Given the description of an element on the screen output the (x, y) to click on. 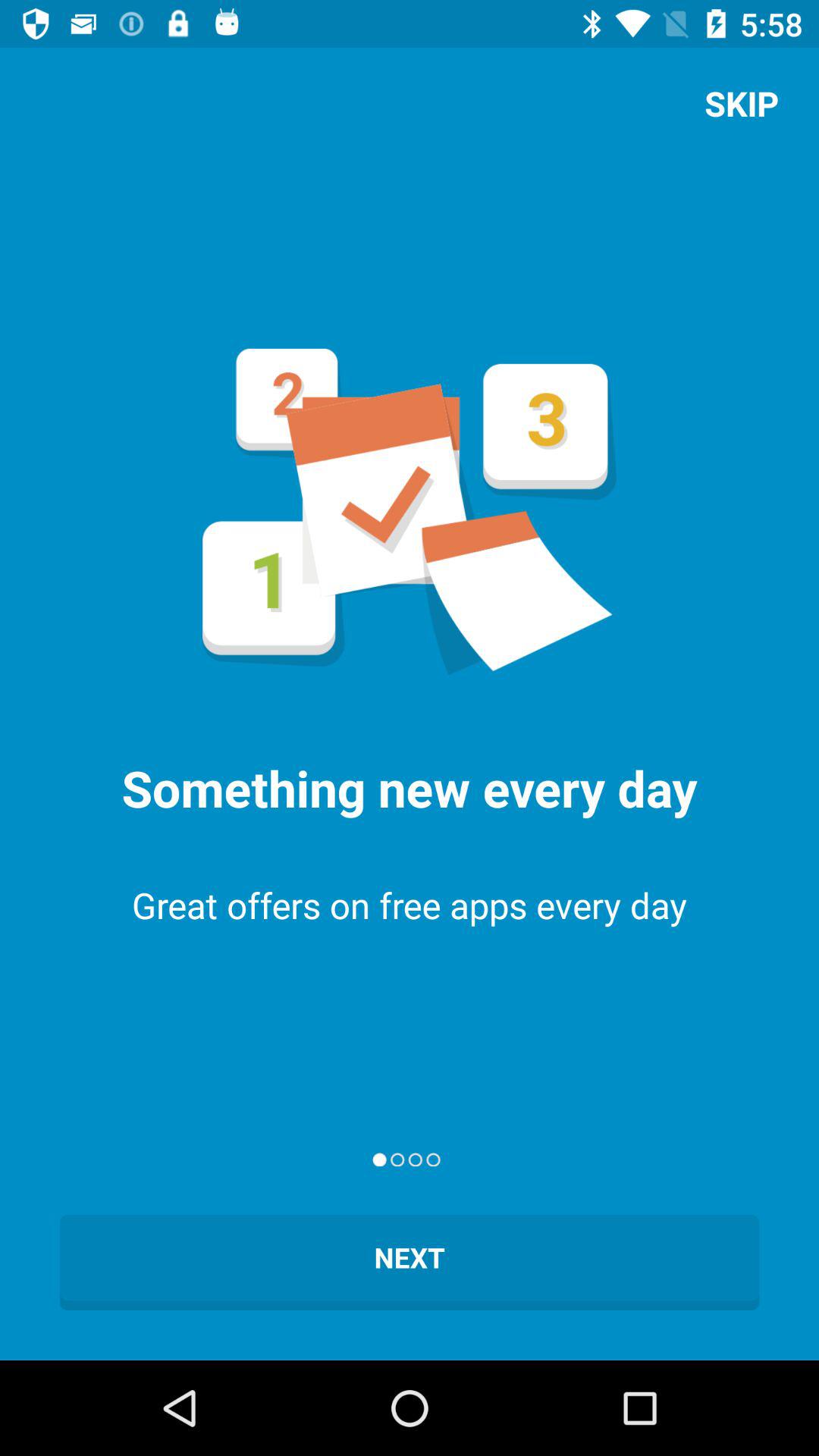
press app at the top right corner (741, 103)
